Given the description of an element on the screen output the (x, y) to click on. 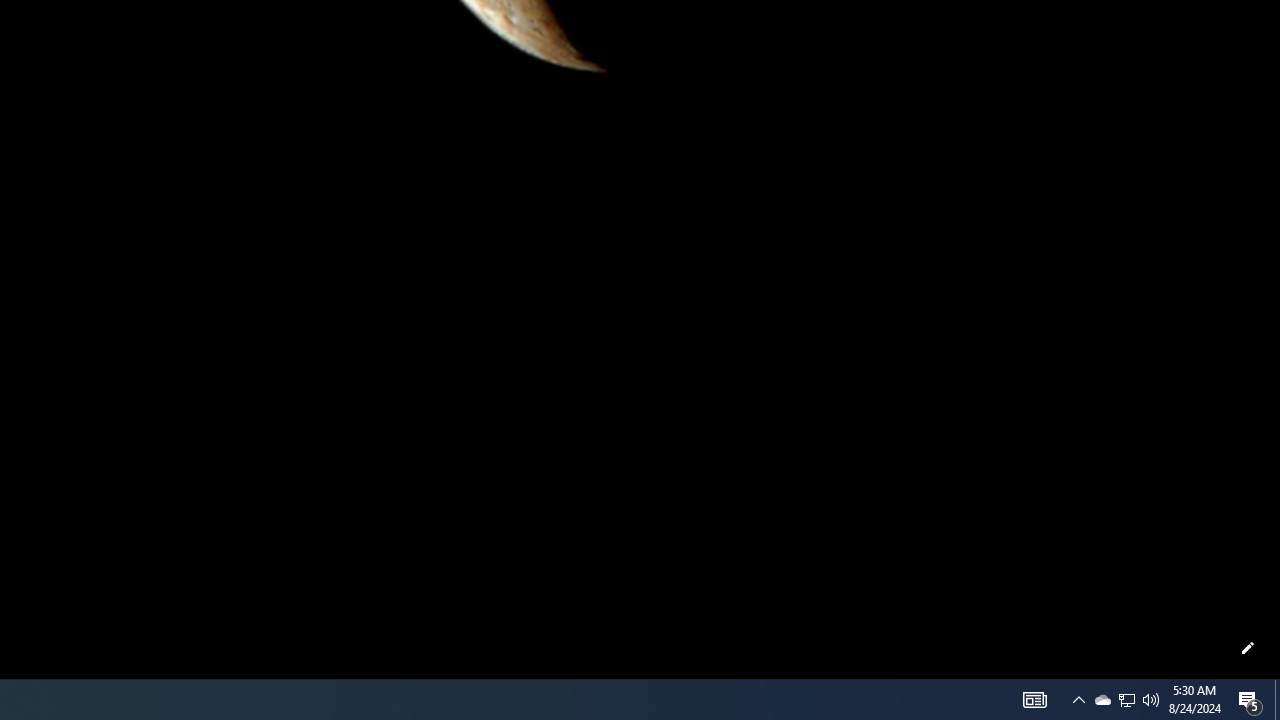
Customize this page (1247, 647)
